Given the description of an element on the screen output the (x, y) to click on. 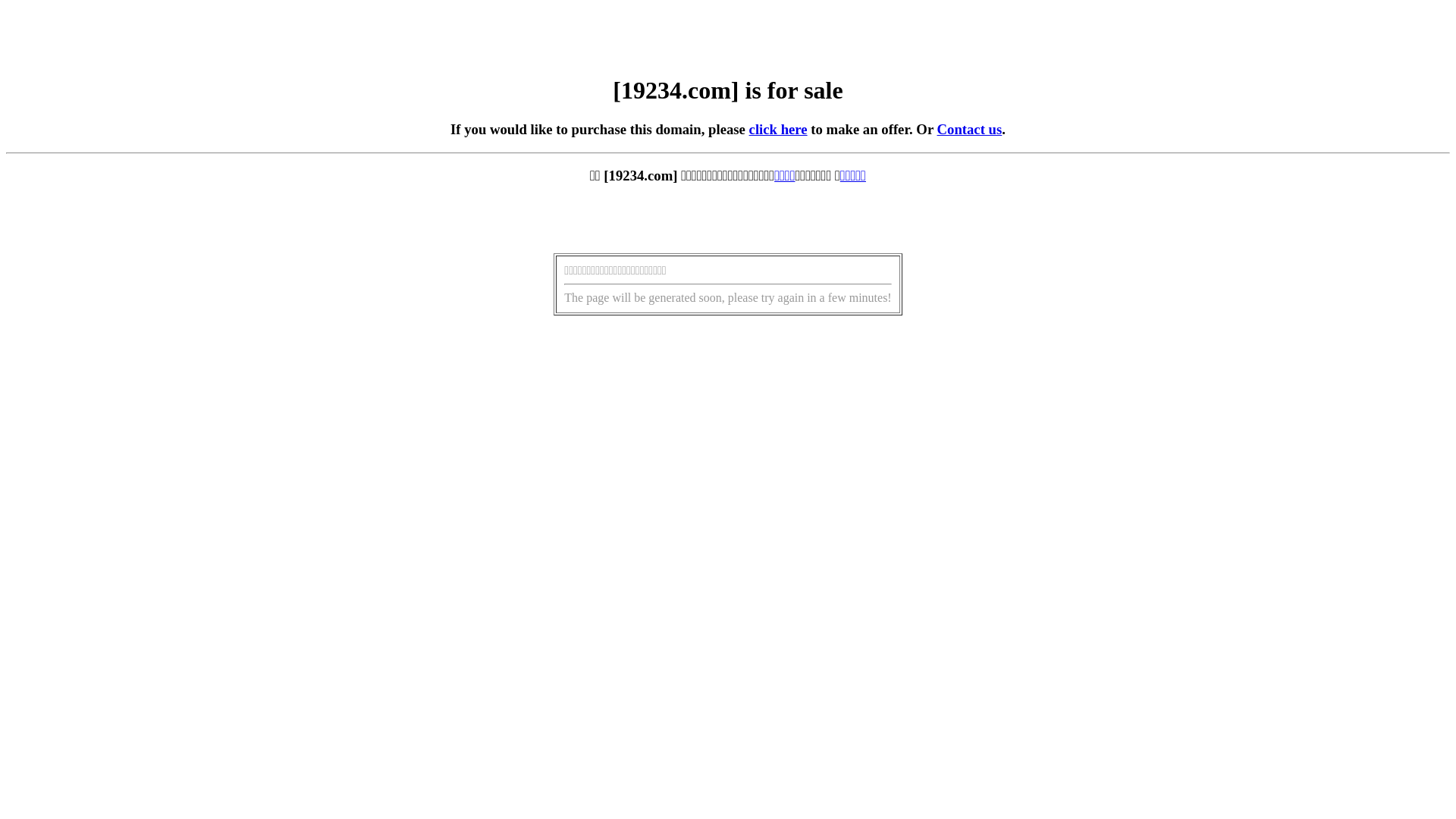
click here Element type: text (778, 129)
Contact us Element type: text (969, 129)
